Given the description of an element on the screen output the (x, y) to click on. 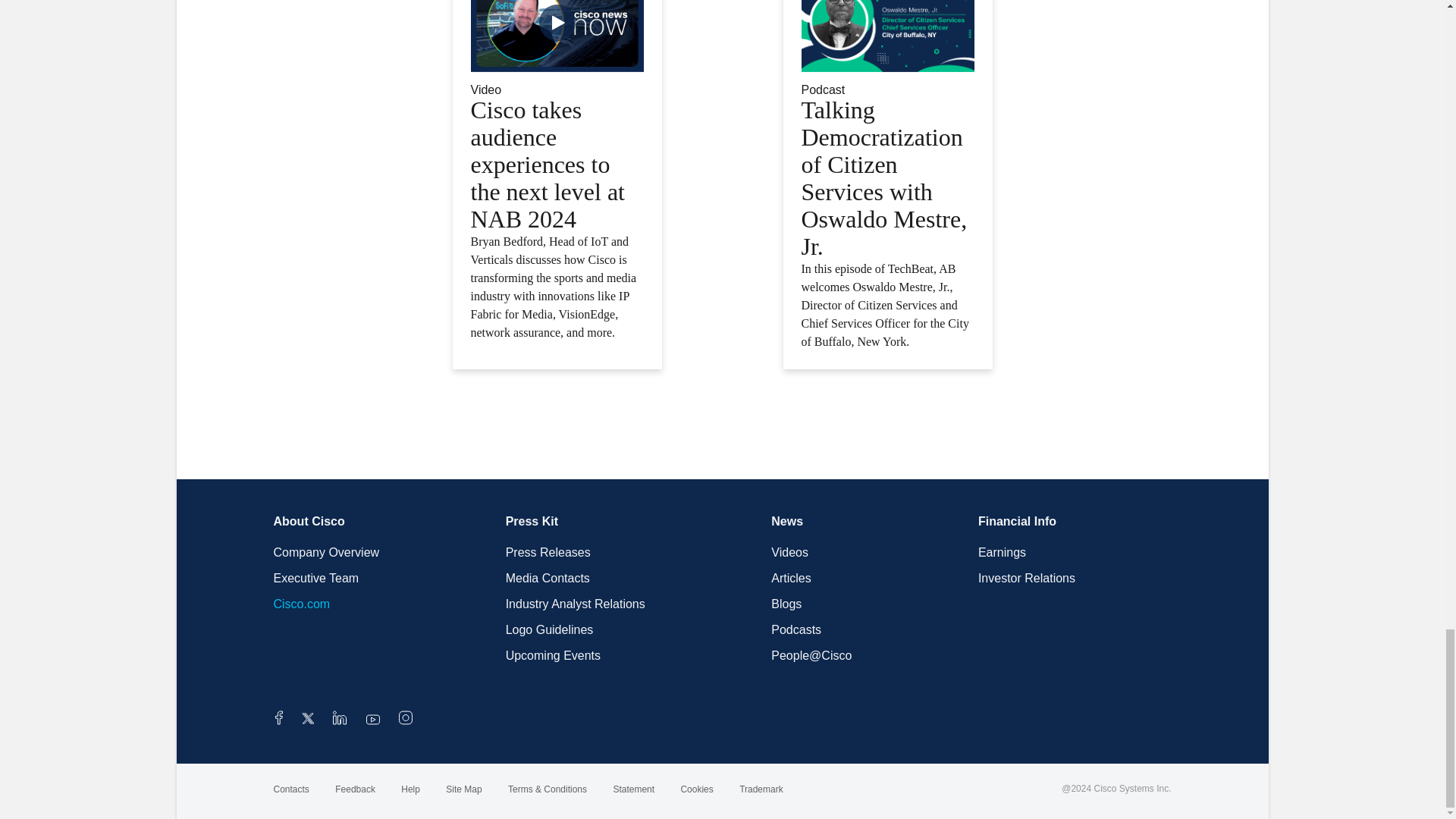
twitter (309, 720)
instagram (405, 720)
youtube (373, 720)
linkedin (340, 720)
